Given the description of an element on the screen output the (x, y) to click on. 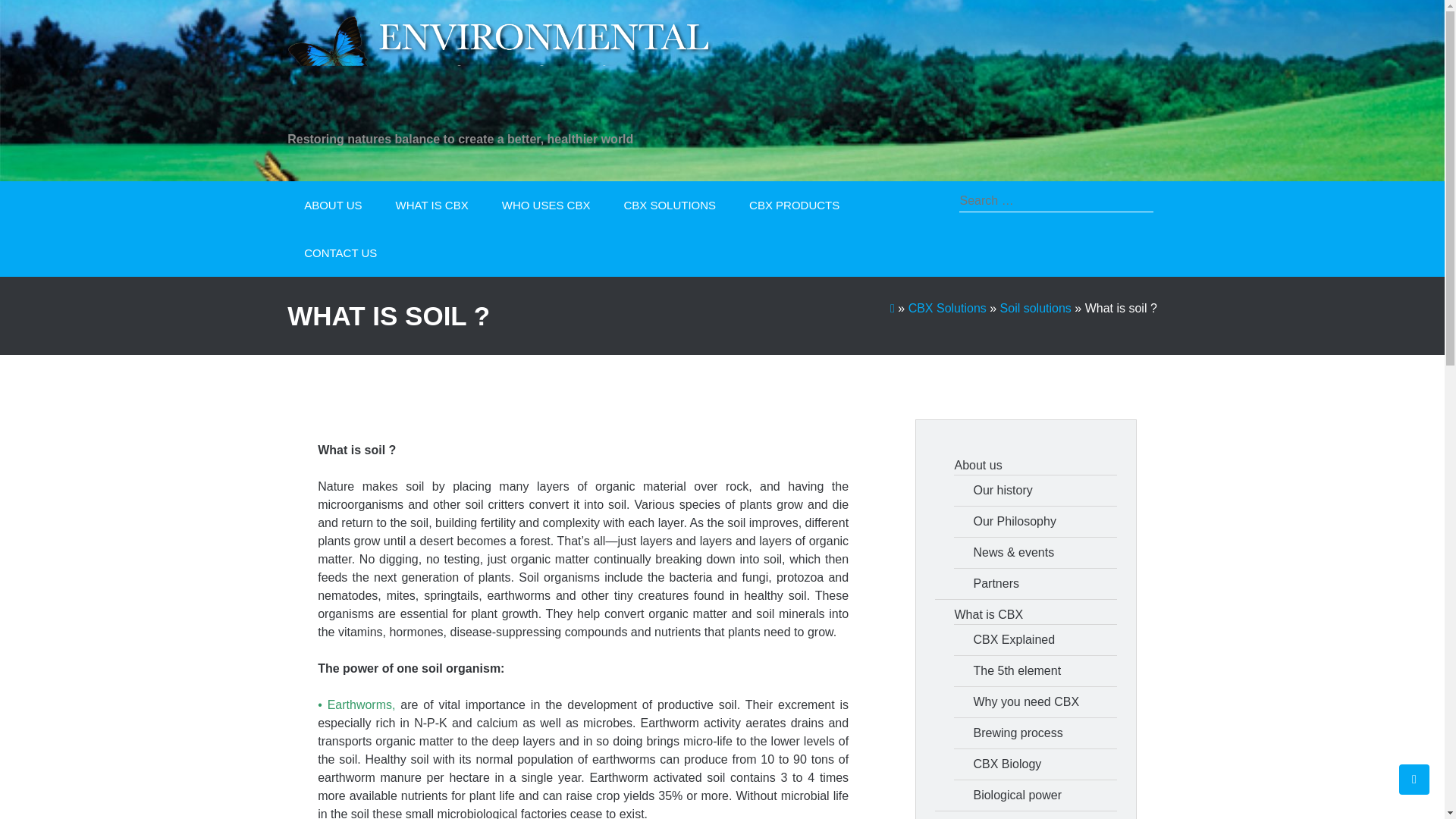
Our Philosophy (1044, 521)
Search (1132, 204)
CONTACT US (339, 252)
CBX Explained (1044, 639)
Search (1132, 204)
ABOUT US (332, 204)
CBX Solutions (947, 308)
WHO USES CBX (545, 204)
Partners (1044, 583)
Brewing process (1044, 732)
CBX PRODUCTS (794, 204)
WHAT IS CBX (431, 204)
The 5th element (1044, 670)
Our history (1044, 490)
About us (1034, 465)
